Given the description of an element on the screen output the (x, y) to click on. 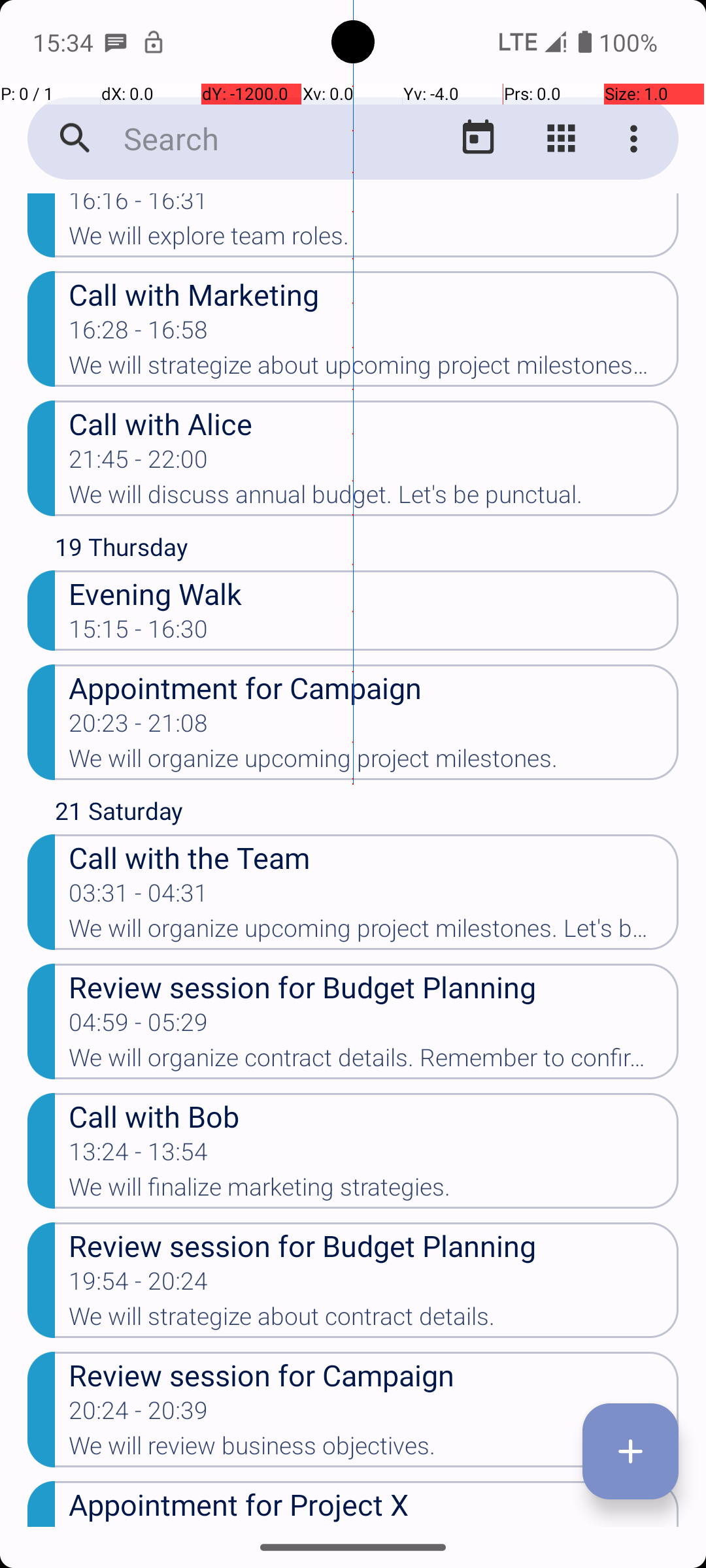
21 Saturday Element type: android.widget.TextView (366, 813)
16:16 - 16:31 Element type: android.widget.TextView (137, 207)
We will explore team roles. Element type: android.widget.TextView (373, 239)
16:28 - 16:58 Element type: android.widget.TextView (137, 333)
We will strategize about upcoming project milestones. Remember to confirm attendance. Element type: android.widget.TextView (373, 368)
21:45 - 22:00 Element type: android.widget.TextView (137, 462)
We will discuss annual budget. Let's be punctual. Element type: android.widget.TextView (373, 498)
Evening Walk Element type: android.widget.TextView (373, 592)
15:15 - 16:30 Element type: android.widget.TextView (137, 632)
20:23 - 21:08 Element type: android.widget.TextView (137, 726)
We will organize upcoming project milestones. Element type: android.widget.TextView (373, 762)
03:31 - 04:31 Element type: android.widget.TextView (137, 896)
We will organize upcoming project milestones. Let's be punctual. Element type: android.widget.TextView (373, 931)
04:59 - 05:29 Element type: android.widget.TextView (137, 1026)
We will organize contract details. Remember to confirm attendance. Element type: android.widget.TextView (373, 1061)
Call with Bob Element type: android.widget.TextView (373, 1115)
13:24 - 13:54 Element type: android.widget.TextView (137, 1155)
We will finalize marketing strategies. Element type: android.widget.TextView (373, 1190)
19:54 - 20:24 Element type: android.widget.TextView (137, 1284)
We will strategize about contract details. Element type: android.widget.TextView (373, 1320)
20:24 - 20:39 Element type: android.widget.TextView (137, 1414)
We will review business objectives. Element type: android.widget.TextView (373, 1449)
22:37 - 23:07 Element type: android.widget.TextView (137, 1526)
